Given the description of an element on the screen output the (x, y) to click on. 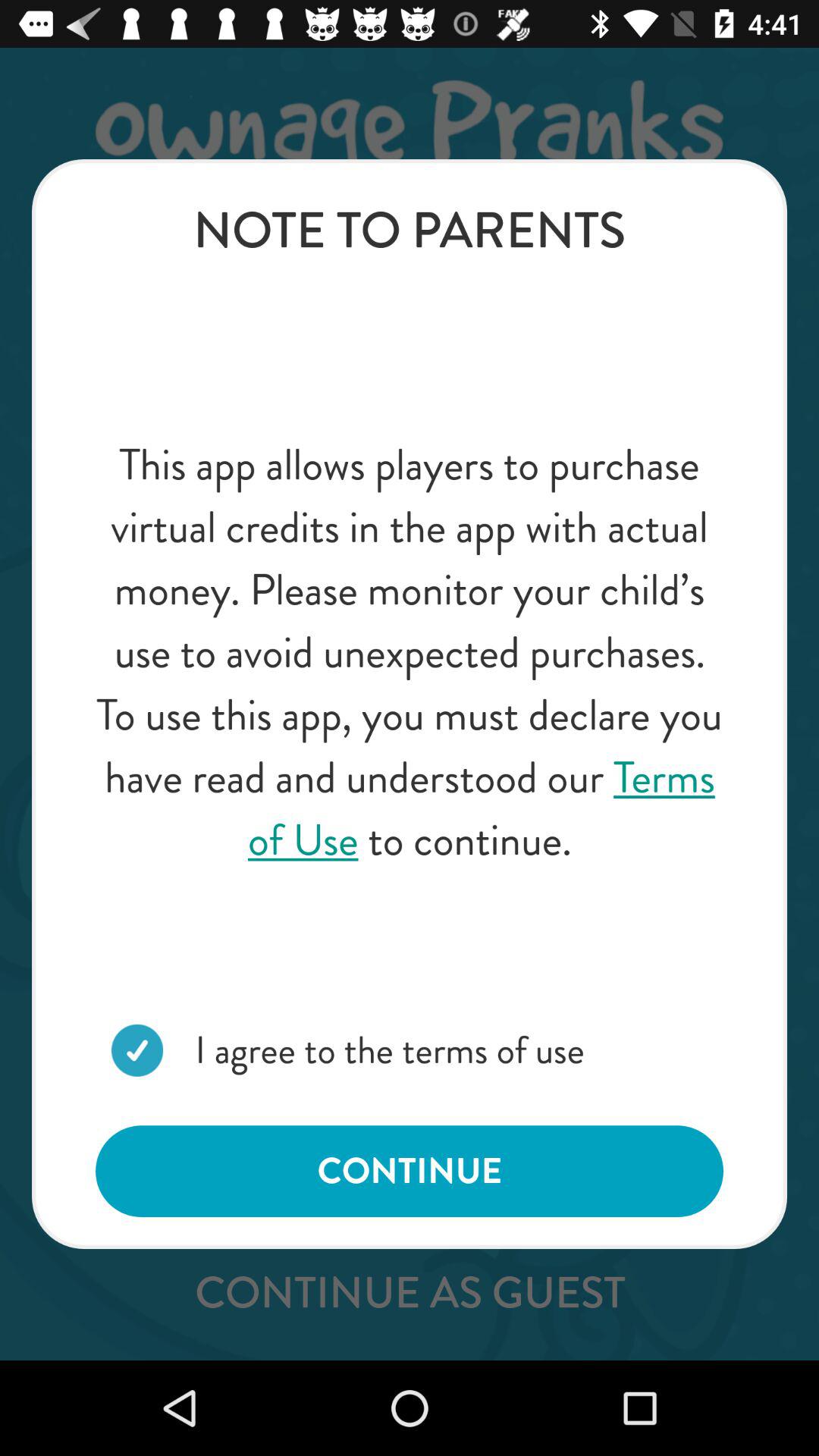
tap continue (409, 1171)
